Given the description of an element on the screen output the (x, y) to click on. 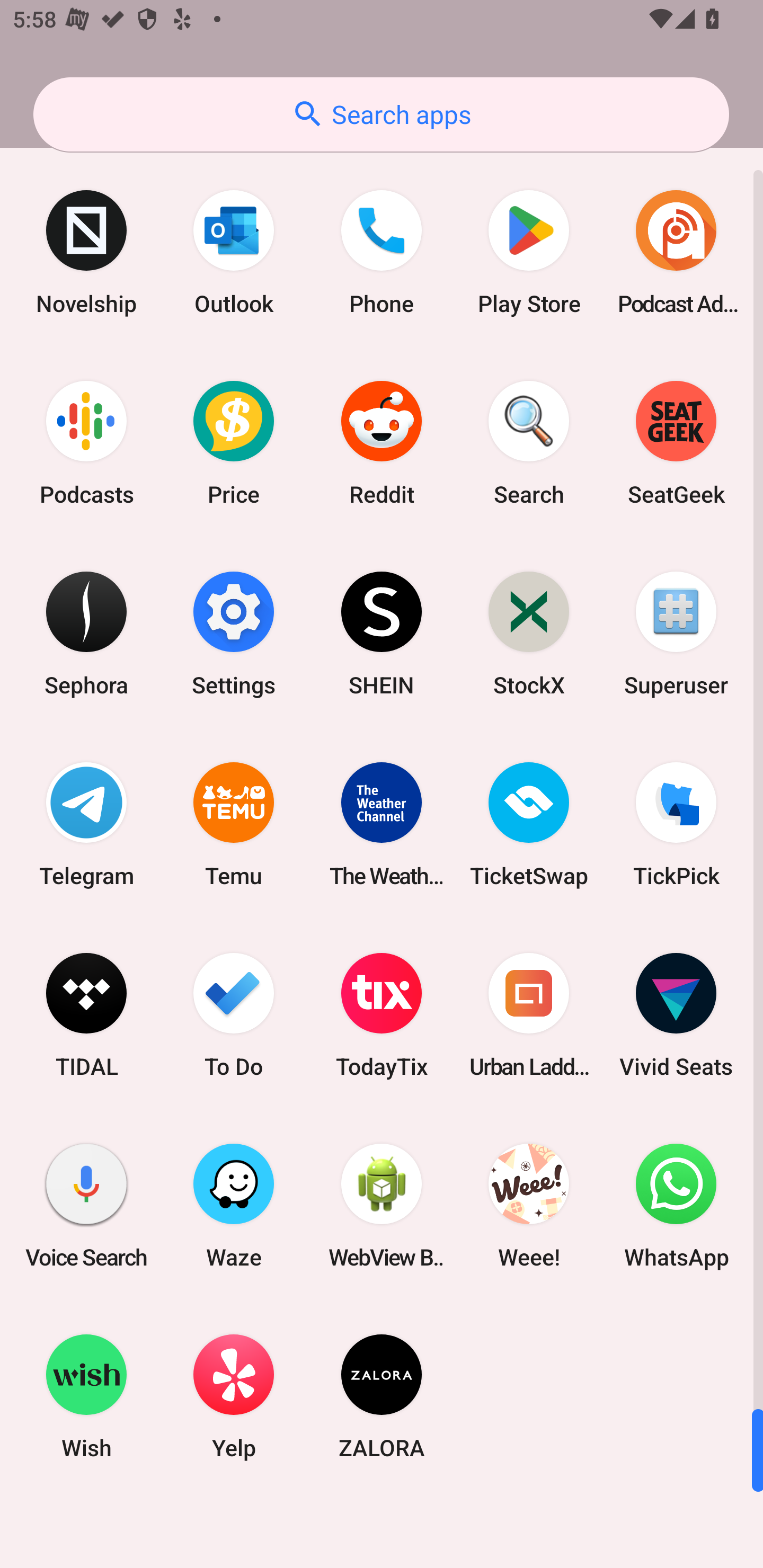
Yelp (233, 1396)
